Given the description of an element on the screen output the (x, y) to click on. 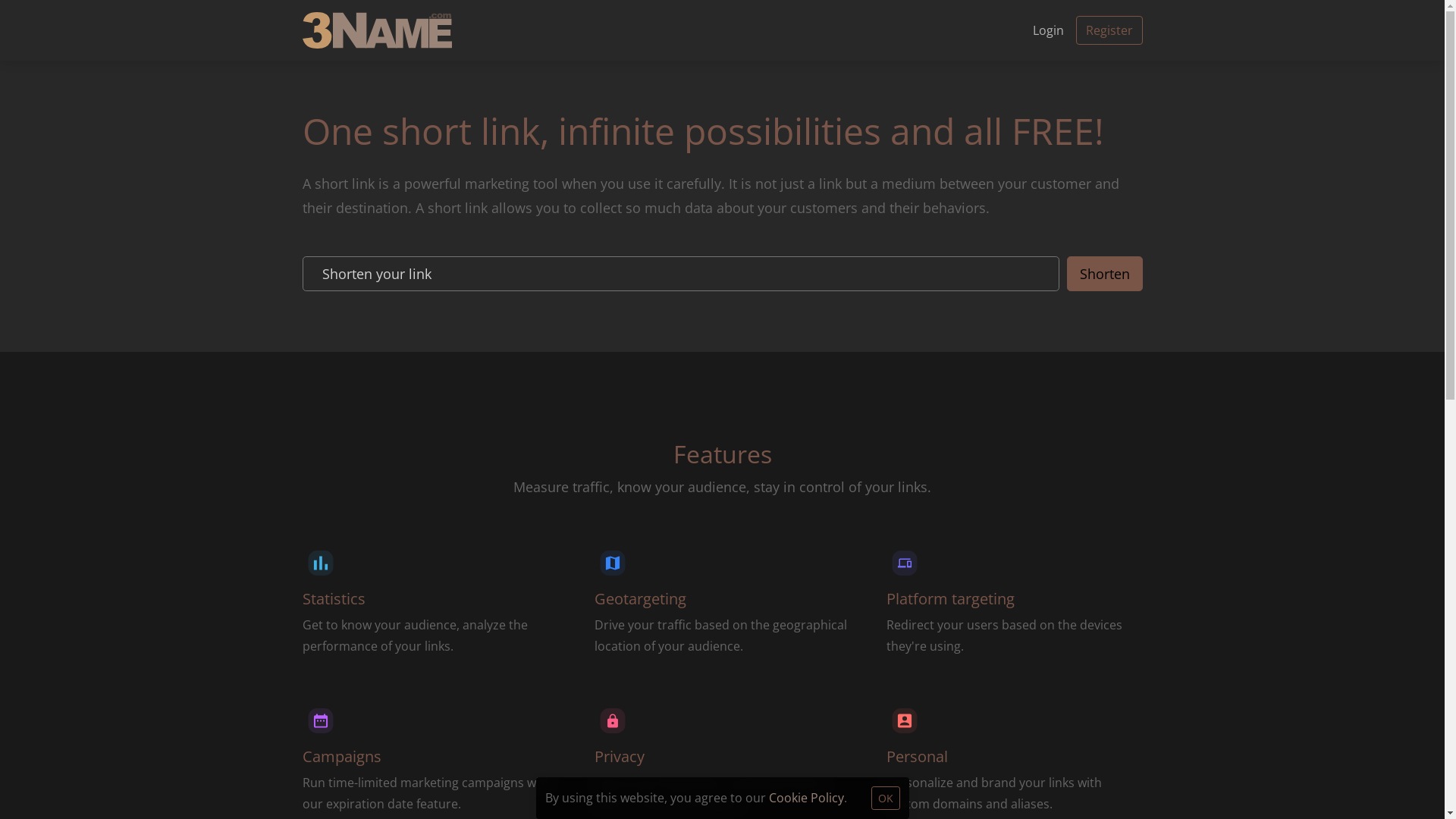
Cookie Policy Element type: text (806, 797)
OK Element type: text (884, 797)
Shorten Element type: text (1104, 273)
Login Element type: text (1048, 30)
Register Element type: text (1108, 29)
